Given the description of an element on the screen output the (x, y) to click on. 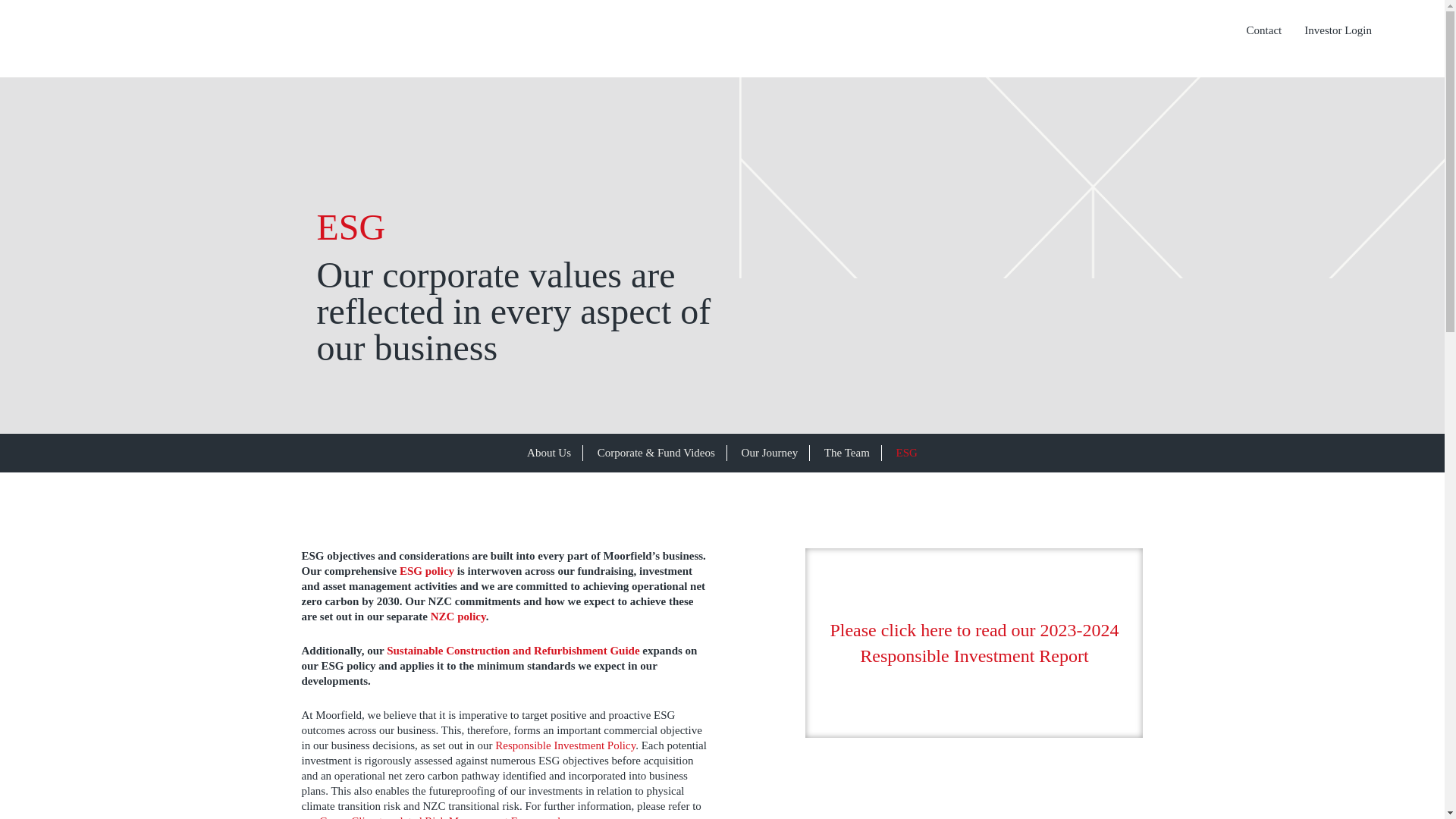
The Team (846, 452)
Our Journey (769, 452)
Search (1204, 29)
ESG (906, 452)
Investor Login (1337, 30)
Contact (1264, 30)
About Us (548, 452)
